Given the description of an element on the screen output the (x, y) to click on. 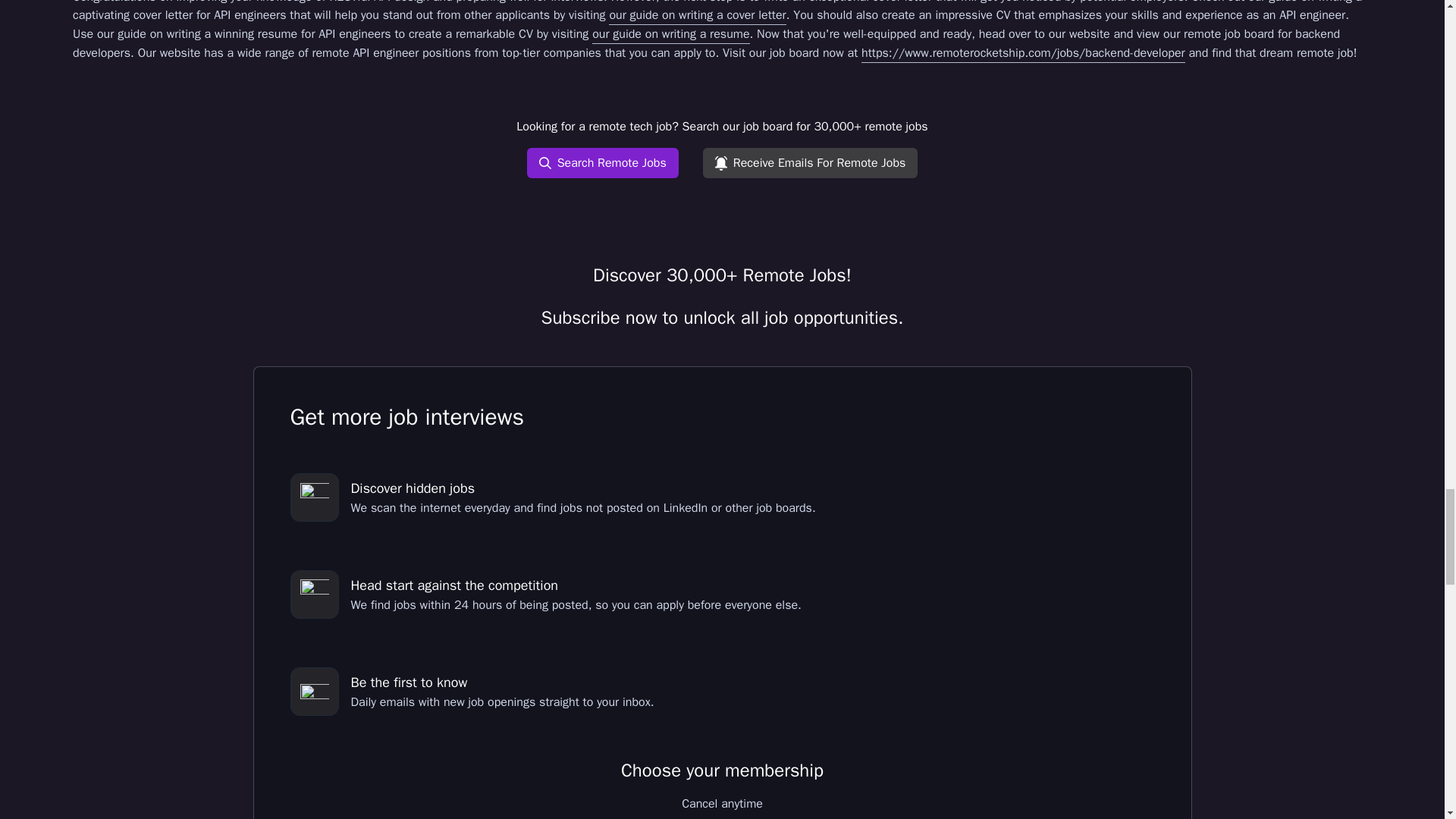
our guide on writing a resume (670, 34)
Search Remote Jobs (602, 163)
our guide on writing a cover letter (697, 15)
Receive Emails For Remote Jobs (810, 163)
